Given the description of an element on the screen output the (x, y) to click on. 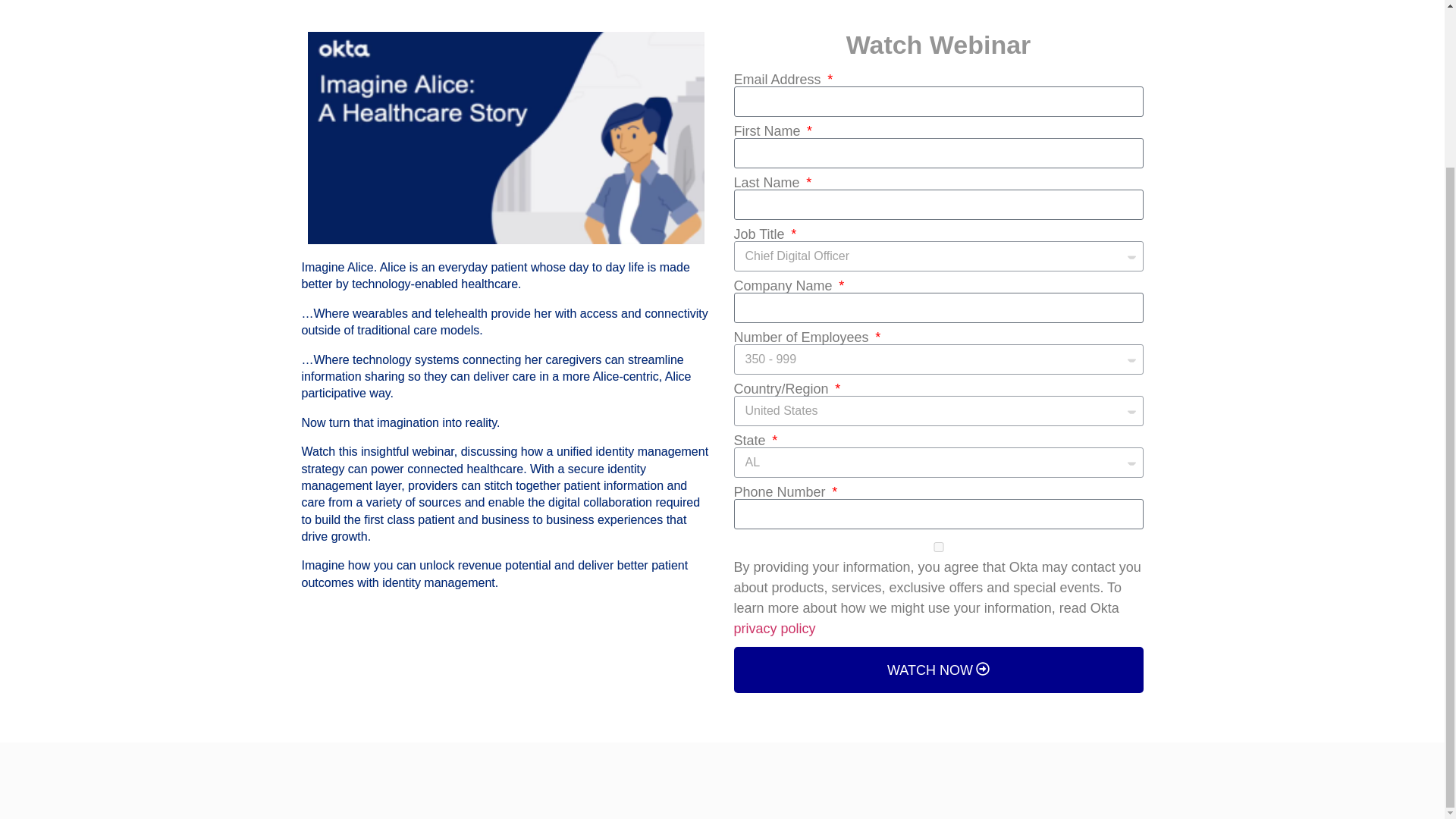
on (937, 547)
privacy policy (774, 629)
WATCH NOW (937, 669)
